Given the description of an element on the screen output the (x, y) to click on. 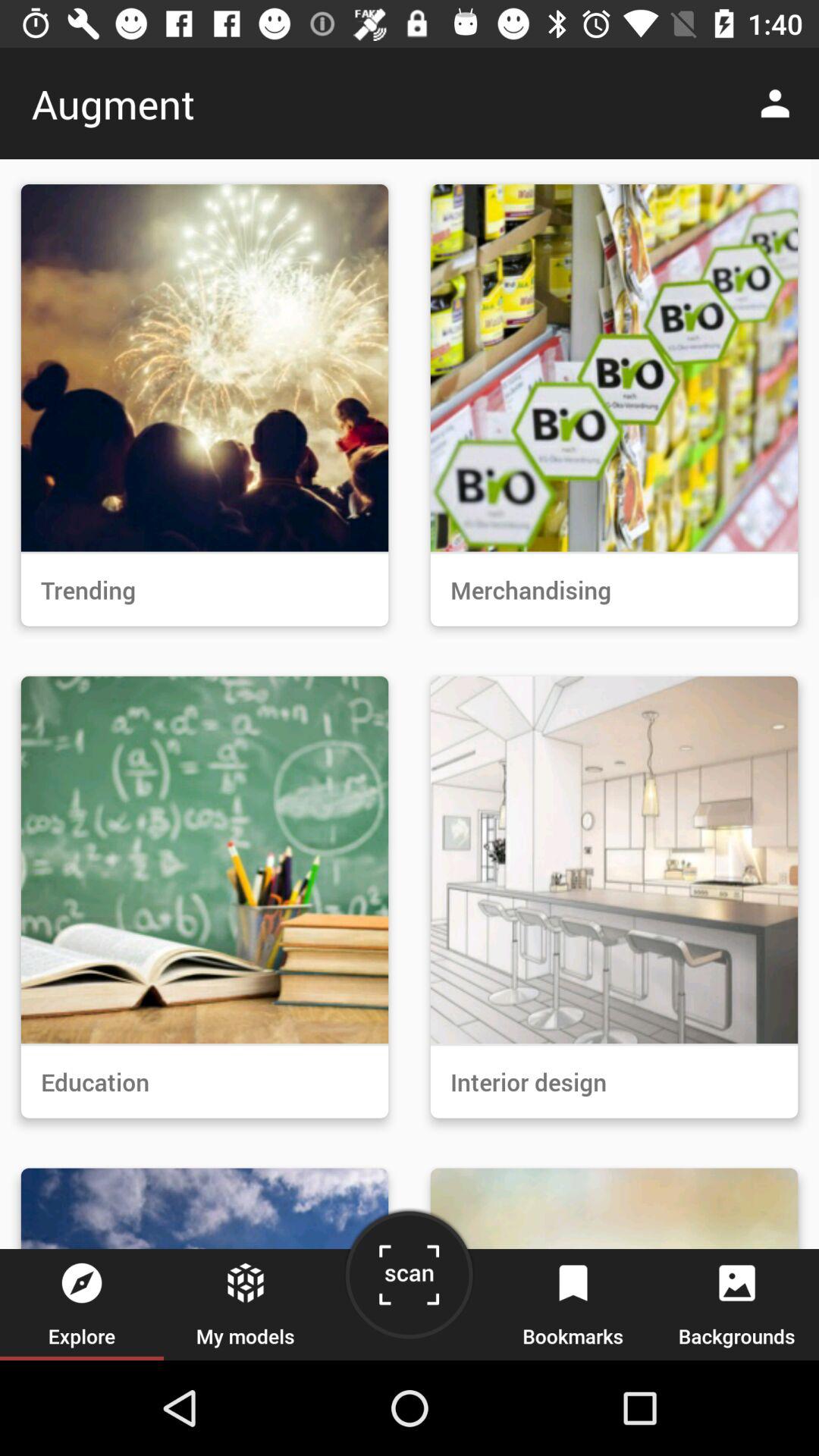
turn on icon below education (408, 1280)
